Given the description of an element on the screen output the (x, y) to click on. 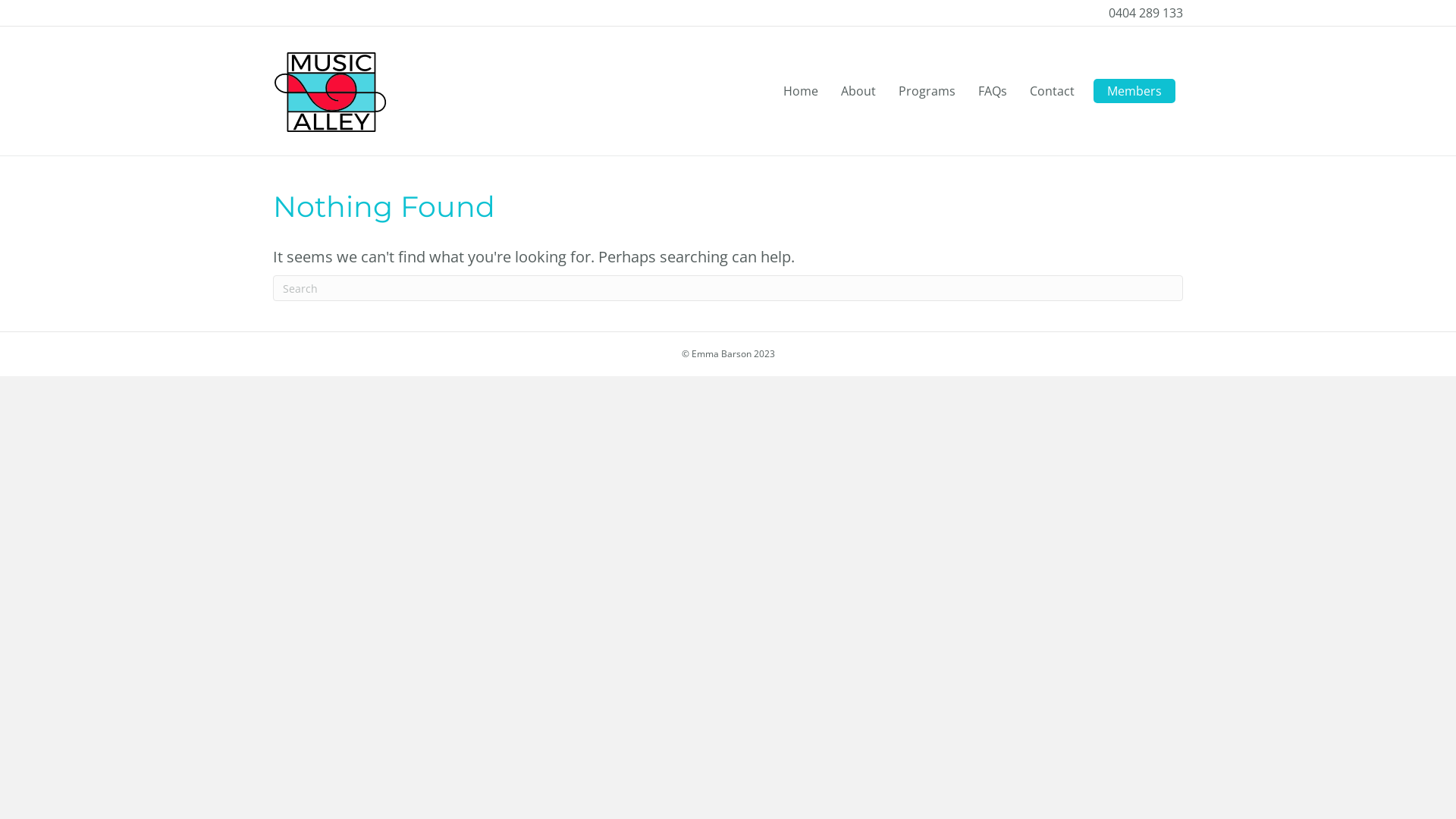
Type and press Enter to search. Element type: hover (728, 288)
About Element type: text (858, 90)
Members Element type: text (1134, 90)
FAQs Element type: text (992, 90)
Programs Element type: text (926, 90)
Contact Element type: text (1051, 90)
Home Element type: text (800, 90)
